Given the description of an element on the screen output the (x, y) to click on. 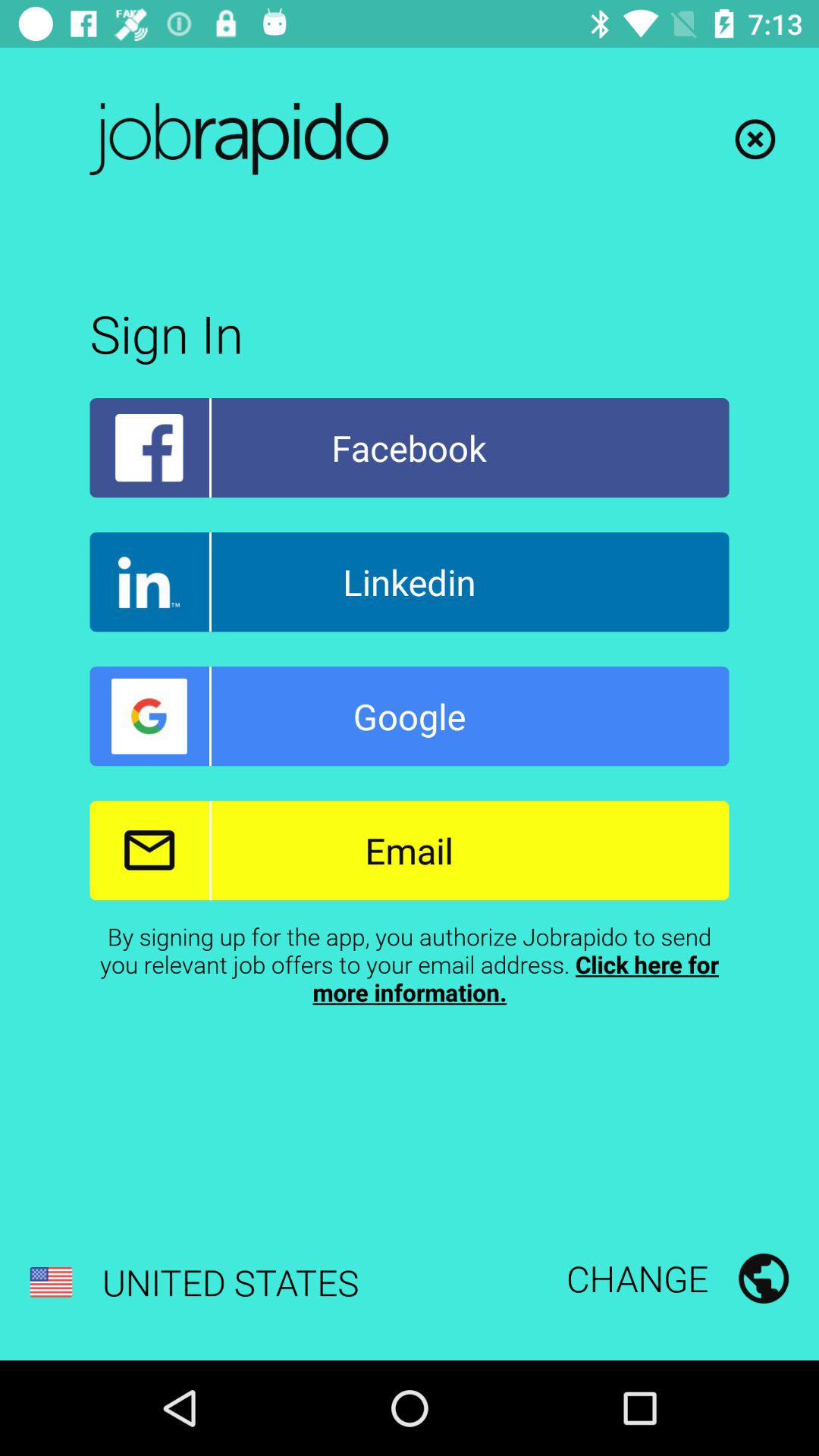
launch the by signing up (409, 964)
